Given the description of an element on the screen output the (x, y) to click on. 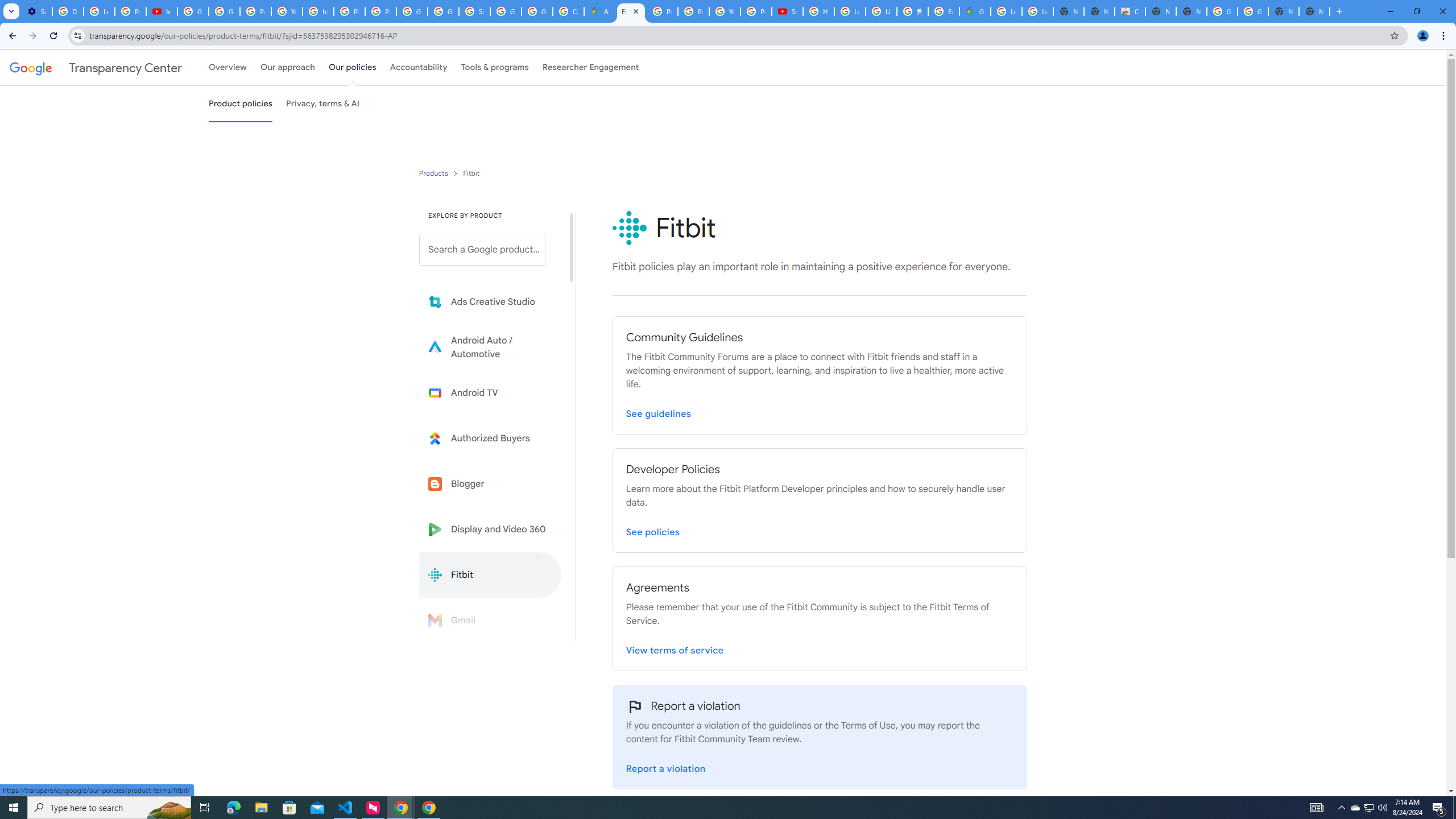
Settings - Performance (36, 11)
Our policies (351, 67)
Learn more about Authorized Buyers (490, 438)
YouTube (286, 11)
Learn more about Android Auto (490, 347)
Blogger (490, 483)
Explore new street-level details - Google Maps Help (943, 11)
Sign in - Google Accounts (474, 11)
